Given the description of an element on the screen output the (x, y) to click on. 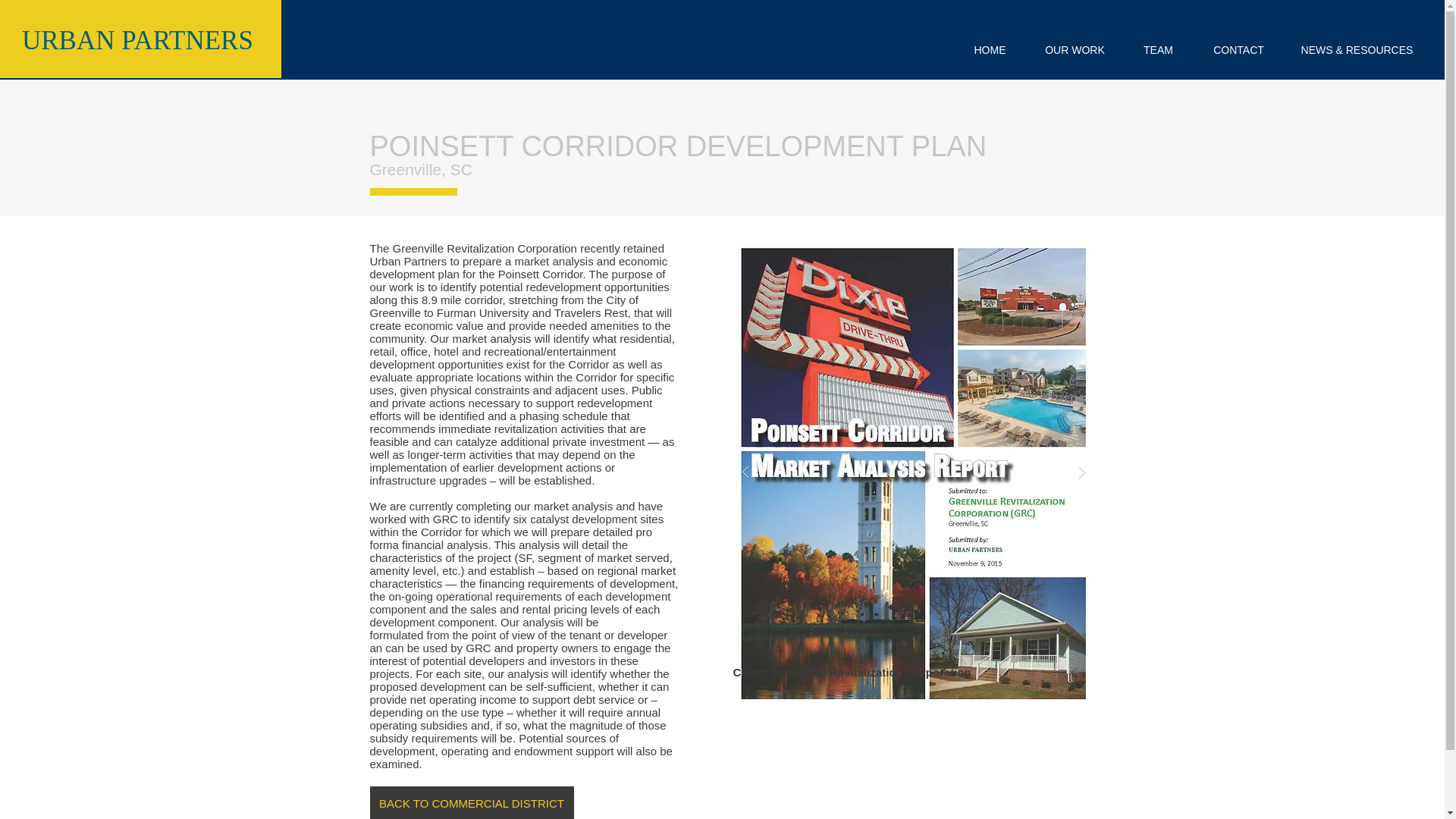
HOME (989, 50)
CONTACT (1238, 50)
BACK TO COMMERCIAL DISTRICT (471, 802)
OUR WORK (1075, 50)
TEAM (1158, 50)
URBAN PARTNERS (137, 40)
